Given the description of an element on the screen output the (x, y) to click on. 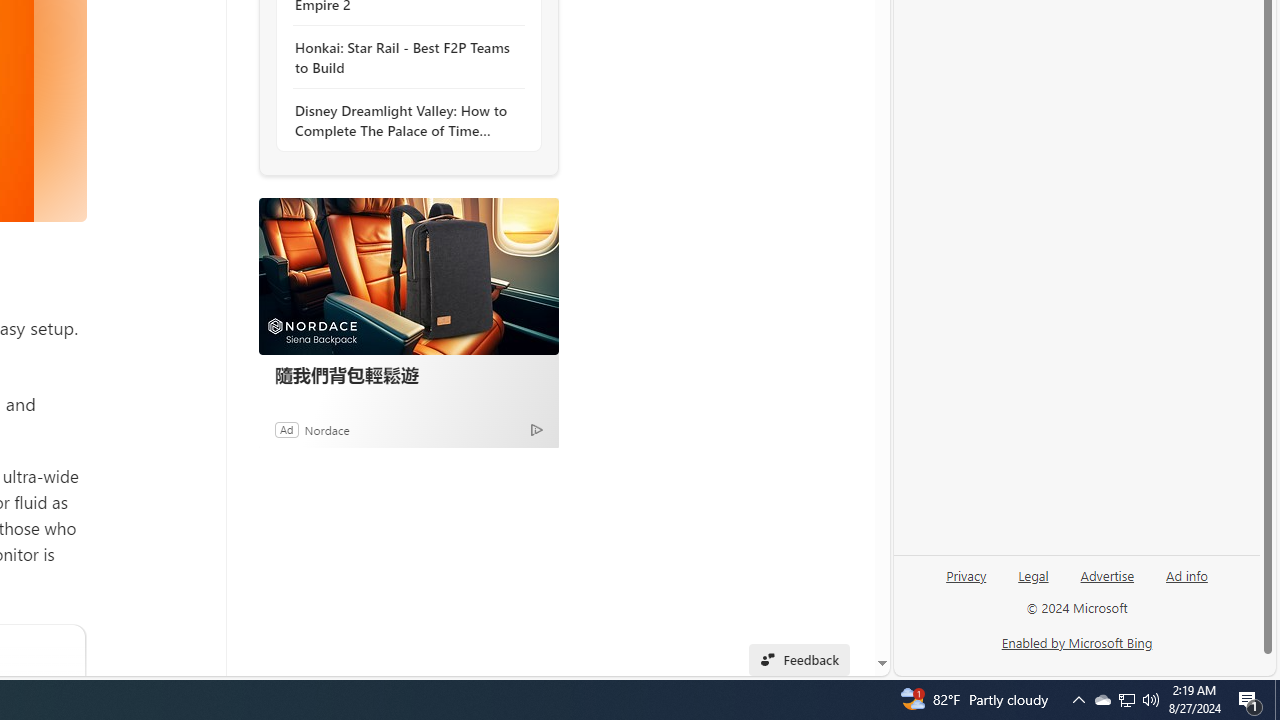
Advertise (1107, 574)
